Given the description of an element on the screen output the (x, y) to click on. 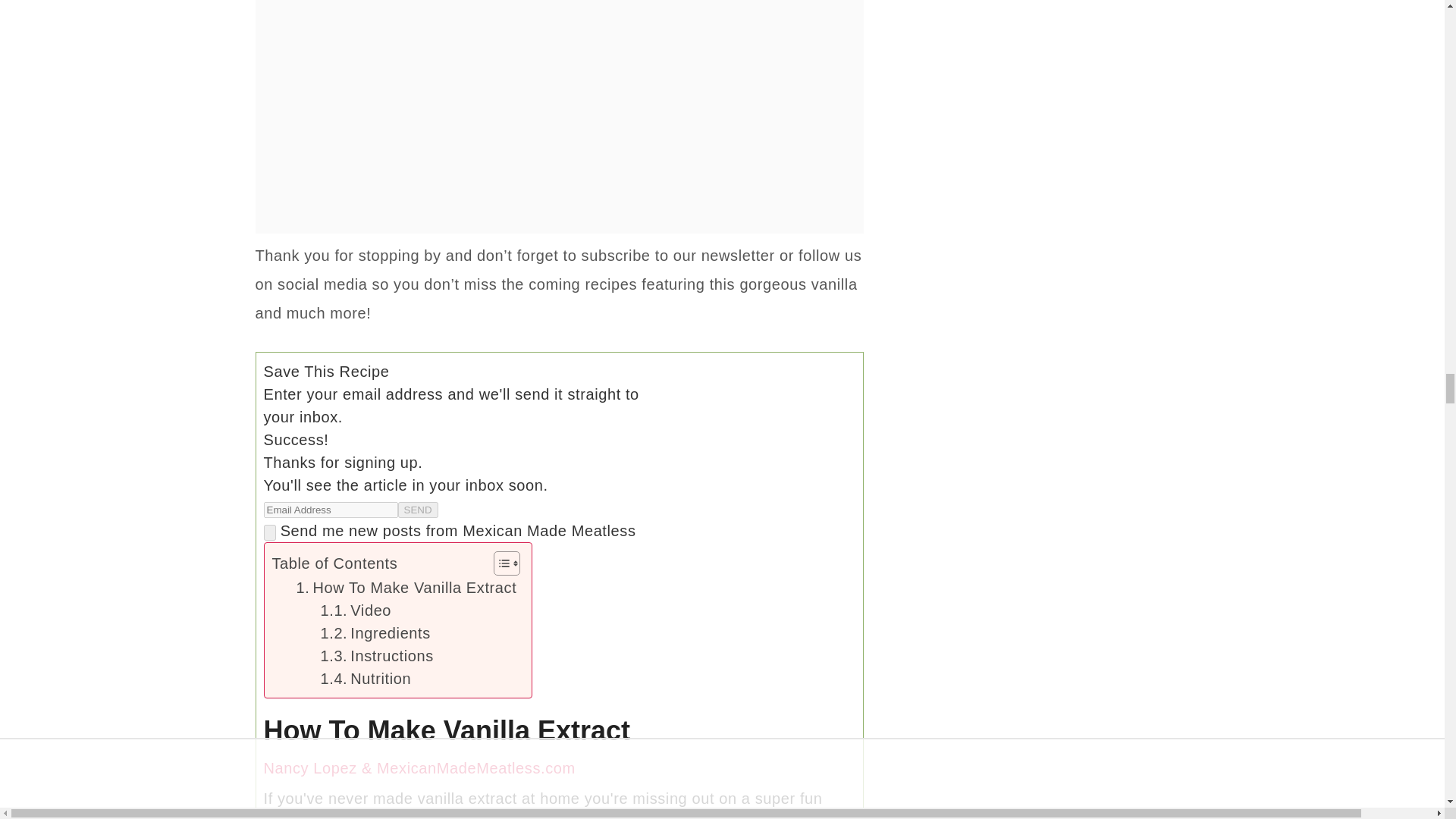
Nutrition (365, 678)
Video (355, 609)
How To Make Vanilla Extract (405, 587)
